Given the description of an element on the screen output the (x, y) to click on. 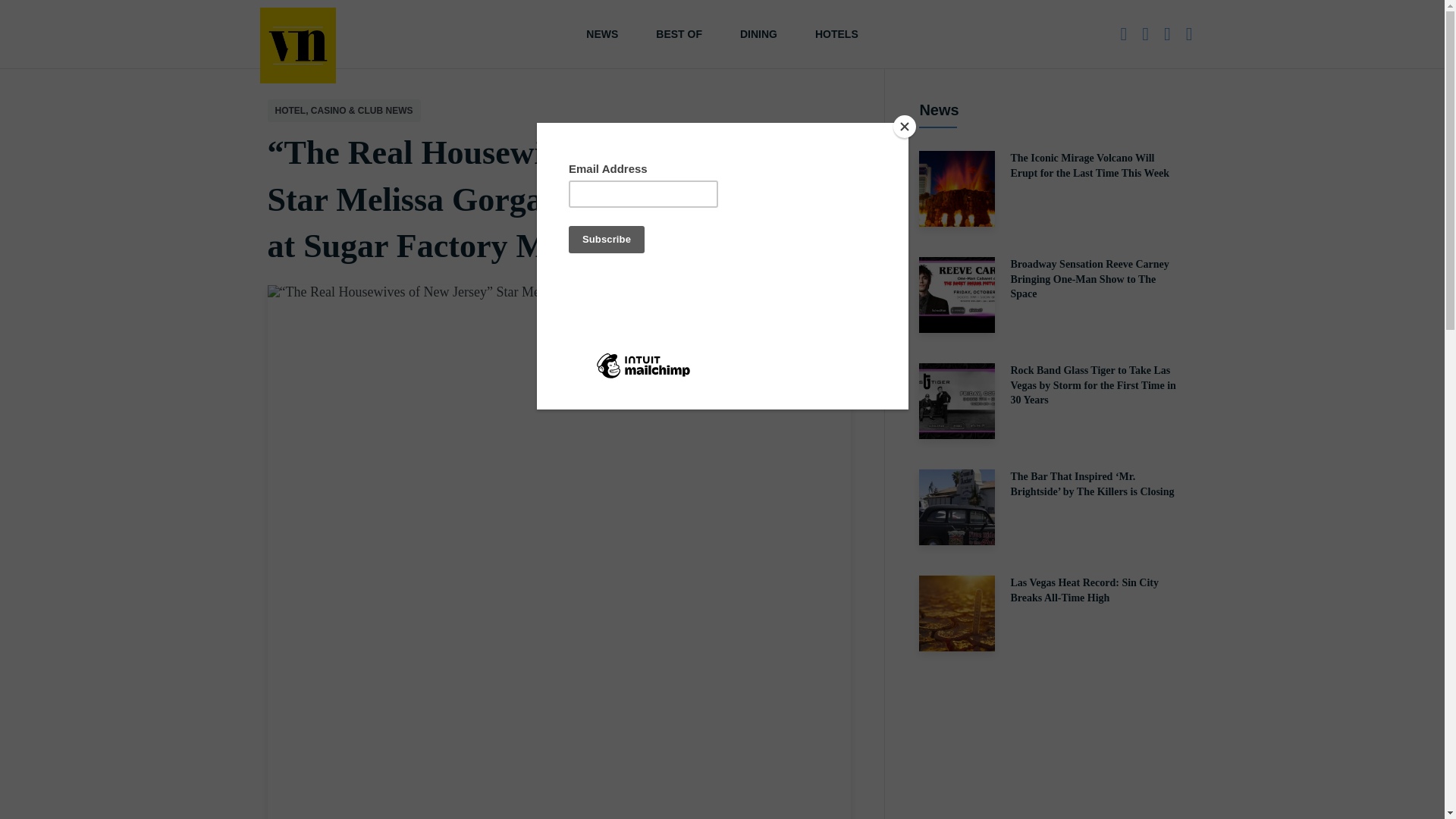
Las Vegas Heat Record: Sin City Breaks All-Time High (1047, 613)
NEWS (601, 33)
DINING (758, 33)
BEST OF (678, 33)
HOTELS (837, 33)
